Given the description of an element on the screen output the (x, y) to click on. 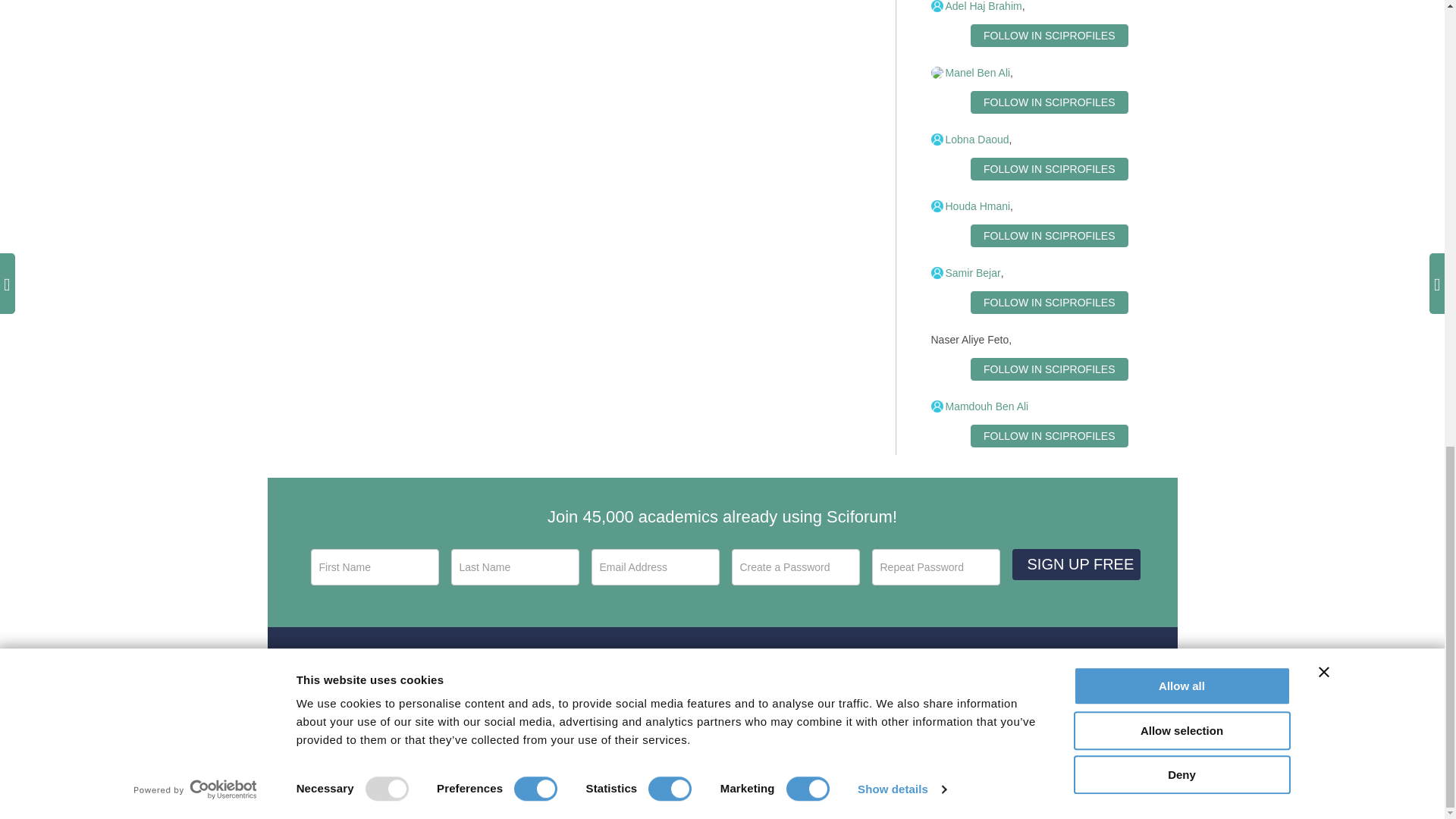
First name (375, 566)
Sign Up Free (1075, 563)
